Given the description of an element on the screen output the (x, y) to click on. 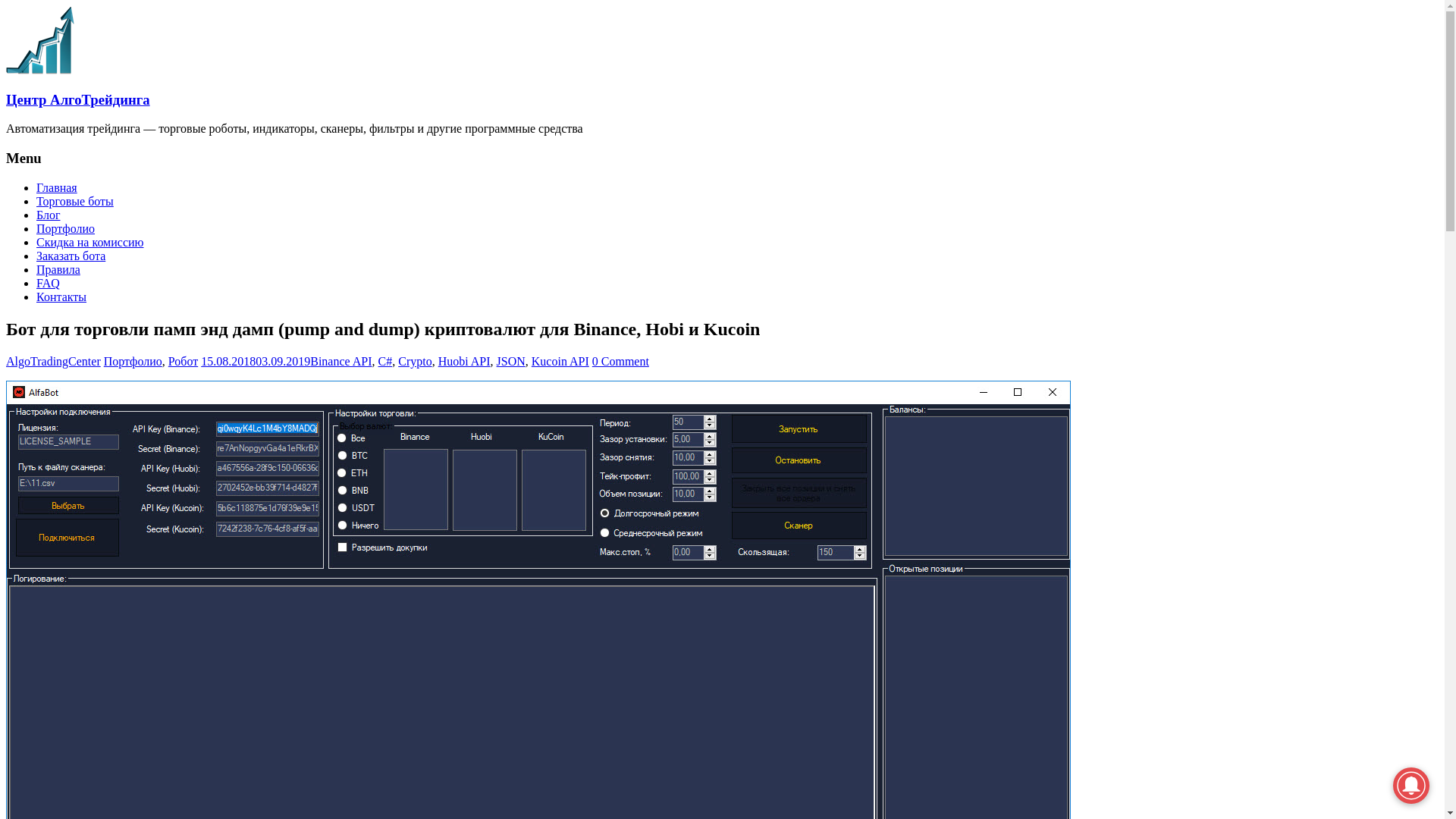
Binance API Element type: text (340, 360)
JSON Element type: text (510, 360)
Huobi API Element type: text (464, 360)
Kucoin API Element type: text (560, 360)
Crypto Element type: text (414, 360)
0 Comment Element type: text (620, 360)
C# Element type: text (385, 360)
FAQ Element type: text (47, 282)
15.08.201803.09.2019 Element type: text (255, 360)
AlgoTradingCenter Element type: text (53, 360)
